Given the description of an element on the screen output the (x, y) to click on. 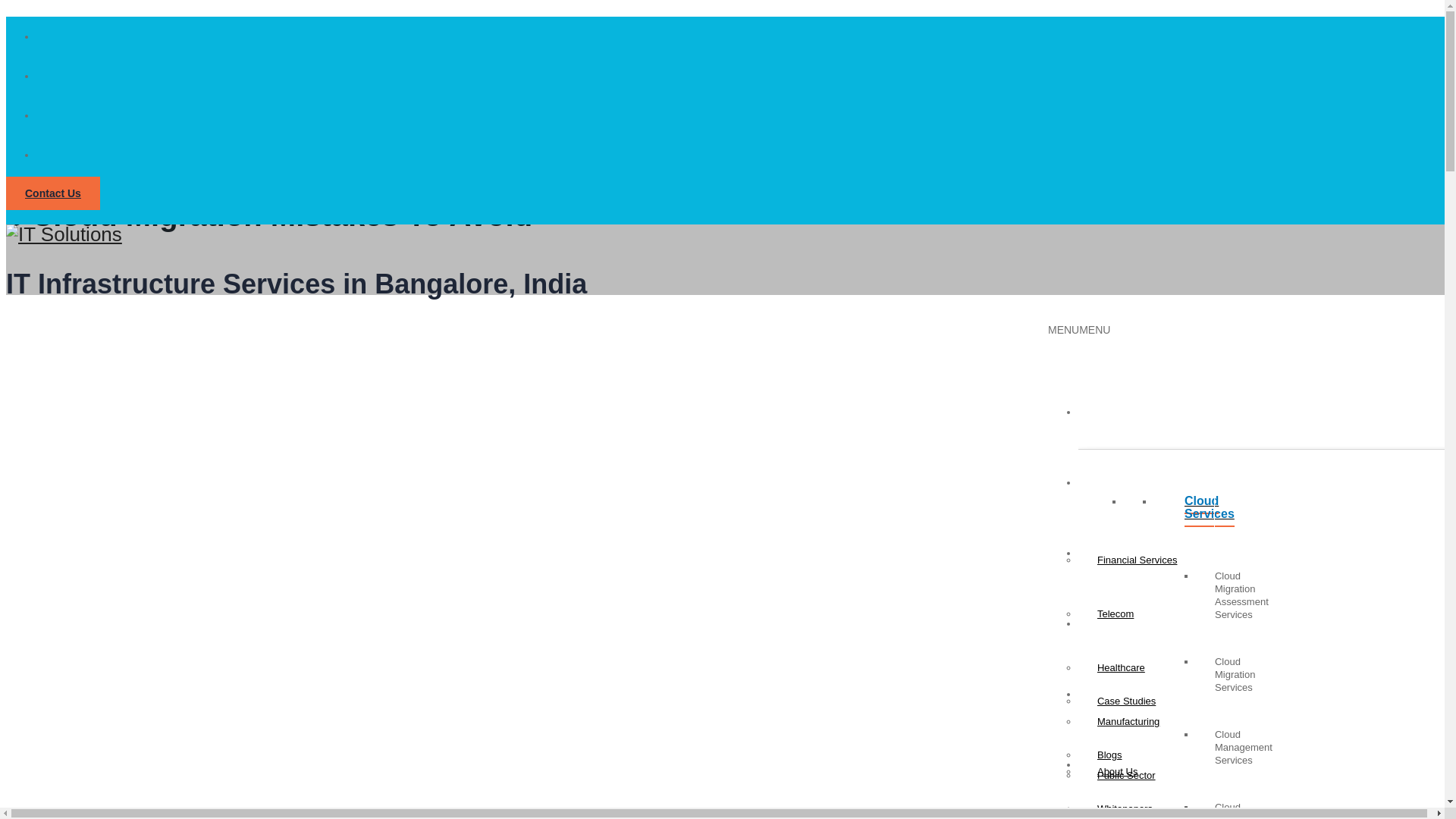
Cloud Services (1185, 513)
Contact Us (52, 192)
